Given the description of an element on the screen output the (x, y) to click on. 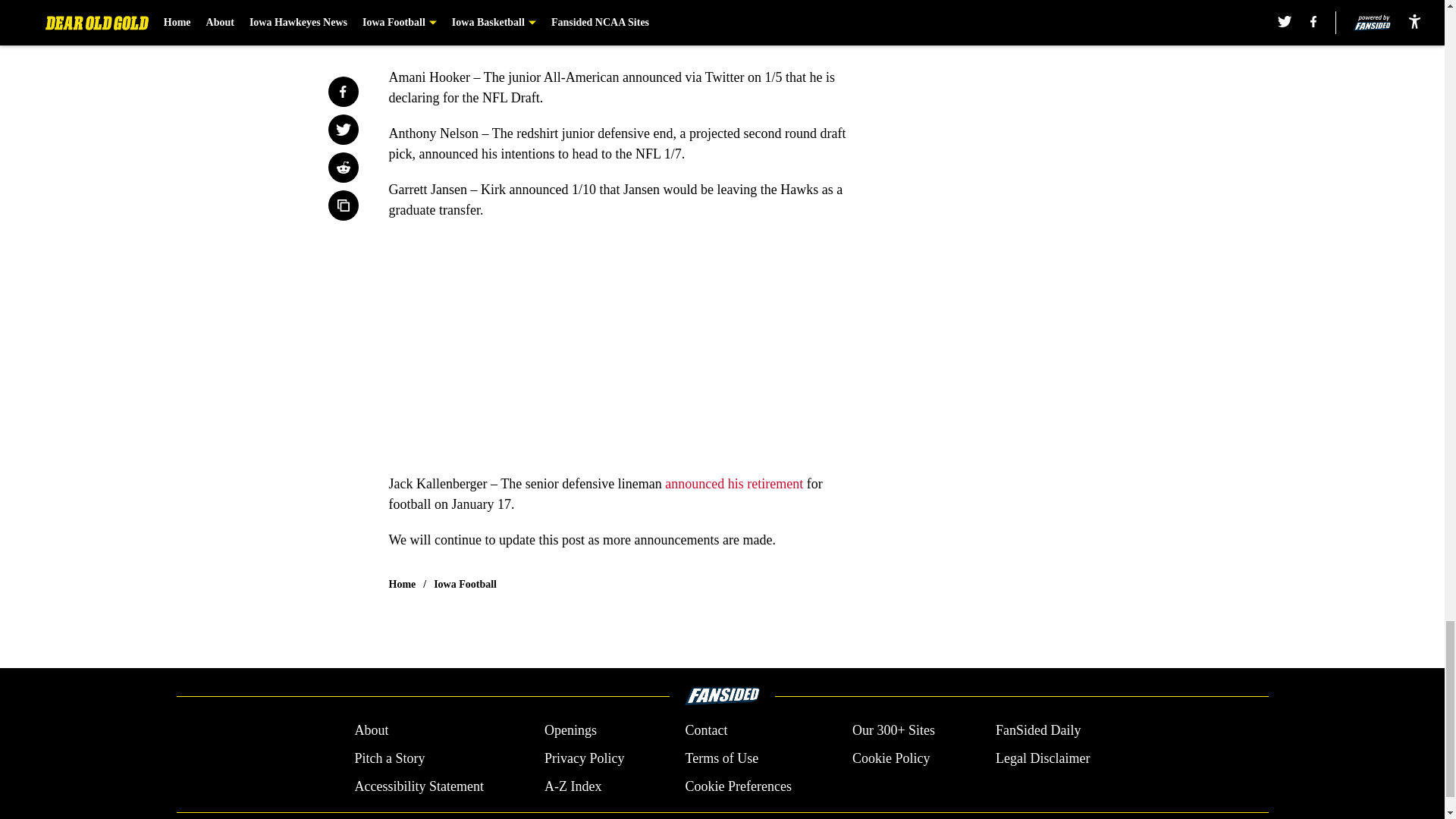
Openings (570, 730)
announced his retirement (732, 483)
Home (401, 584)
Contact (705, 730)
FanSided Daily (1038, 730)
Terms of Use (721, 758)
Pitch a Story (389, 758)
About (370, 730)
Iowa Football (464, 584)
Privacy Policy (584, 758)
